Given the description of an element on the screen output the (x, y) to click on. 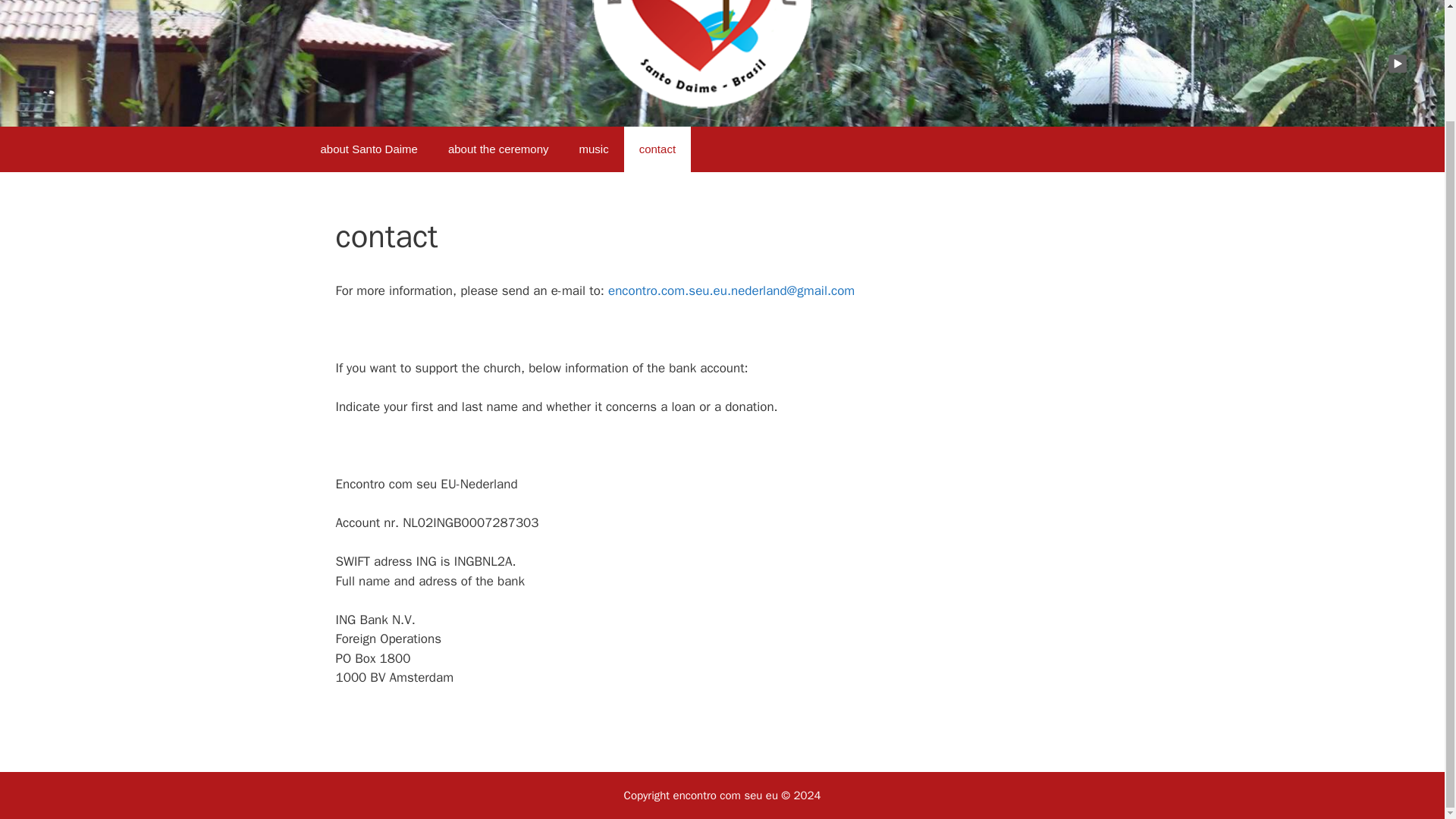
music (594, 148)
contact (657, 148)
about Santo Daime (368, 148)
about the ceremony (498, 148)
